Given the description of an element on the screen output the (x, y) to click on. 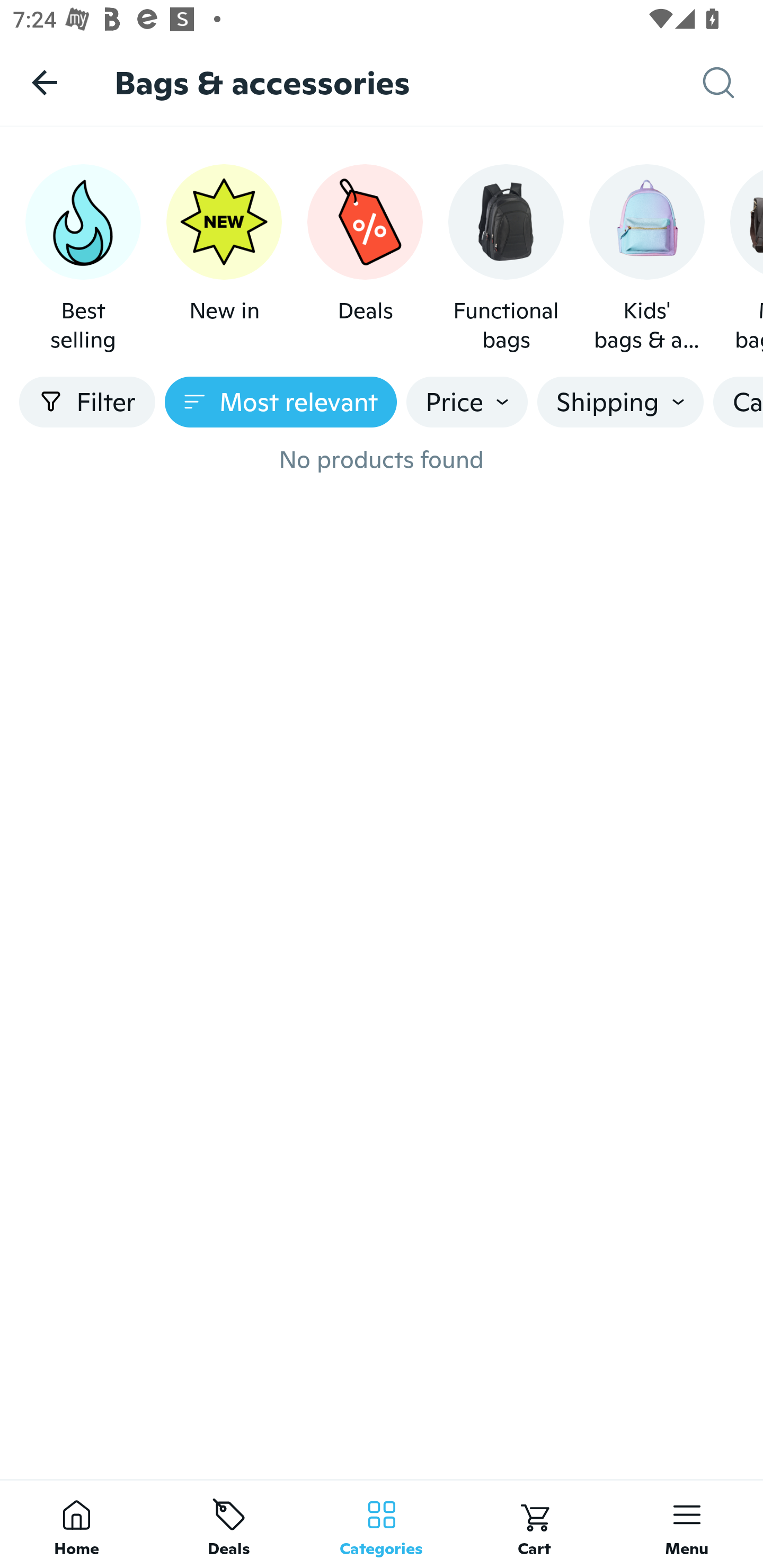
Navigate up (44, 82)
Search (732, 82)
Best selling (83, 259)
New in (223, 259)
Deals (364, 259)
Functional bags (505, 259)
Kids' bags & accessories (647, 259)
Filter (86, 402)
Most relevant (280, 402)
Price (466, 402)
Shipping (620, 402)
Home (76, 1523)
Deals (228, 1523)
Categories (381, 1523)
Cart (533, 1523)
Menu (686, 1523)
